Given the description of an element on the screen output the (x, y) to click on. 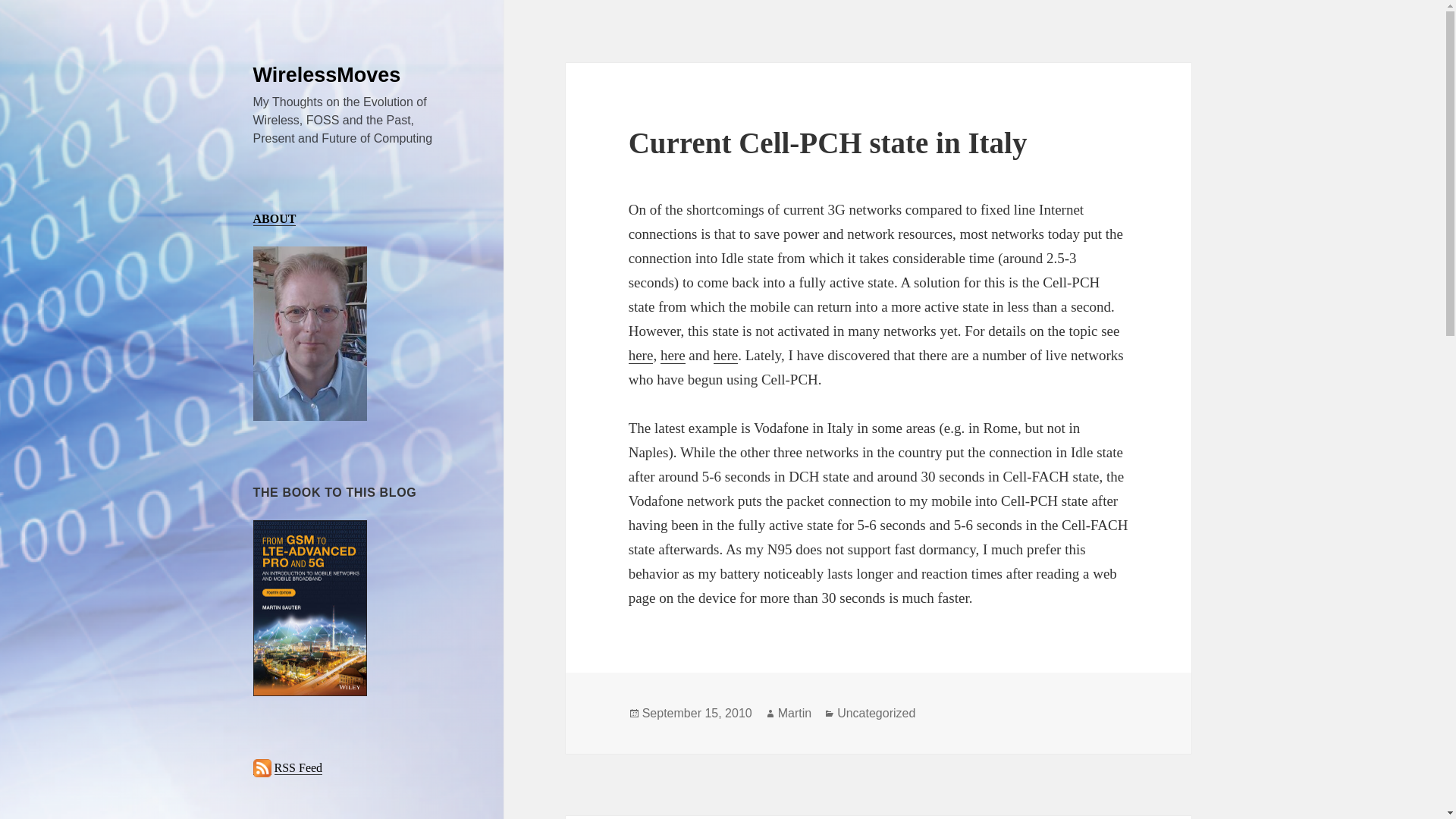
Uncategorized (876, 713)
here (299, 767)
Martin (673, 355)
here (793, 713)
WirelessMoves (725, 355)
September 15, 2010 (327, 74)
here (697, 713)
ABOUT (640, 355)
